Given the description of an element on the screen output the (x, y) to click on. 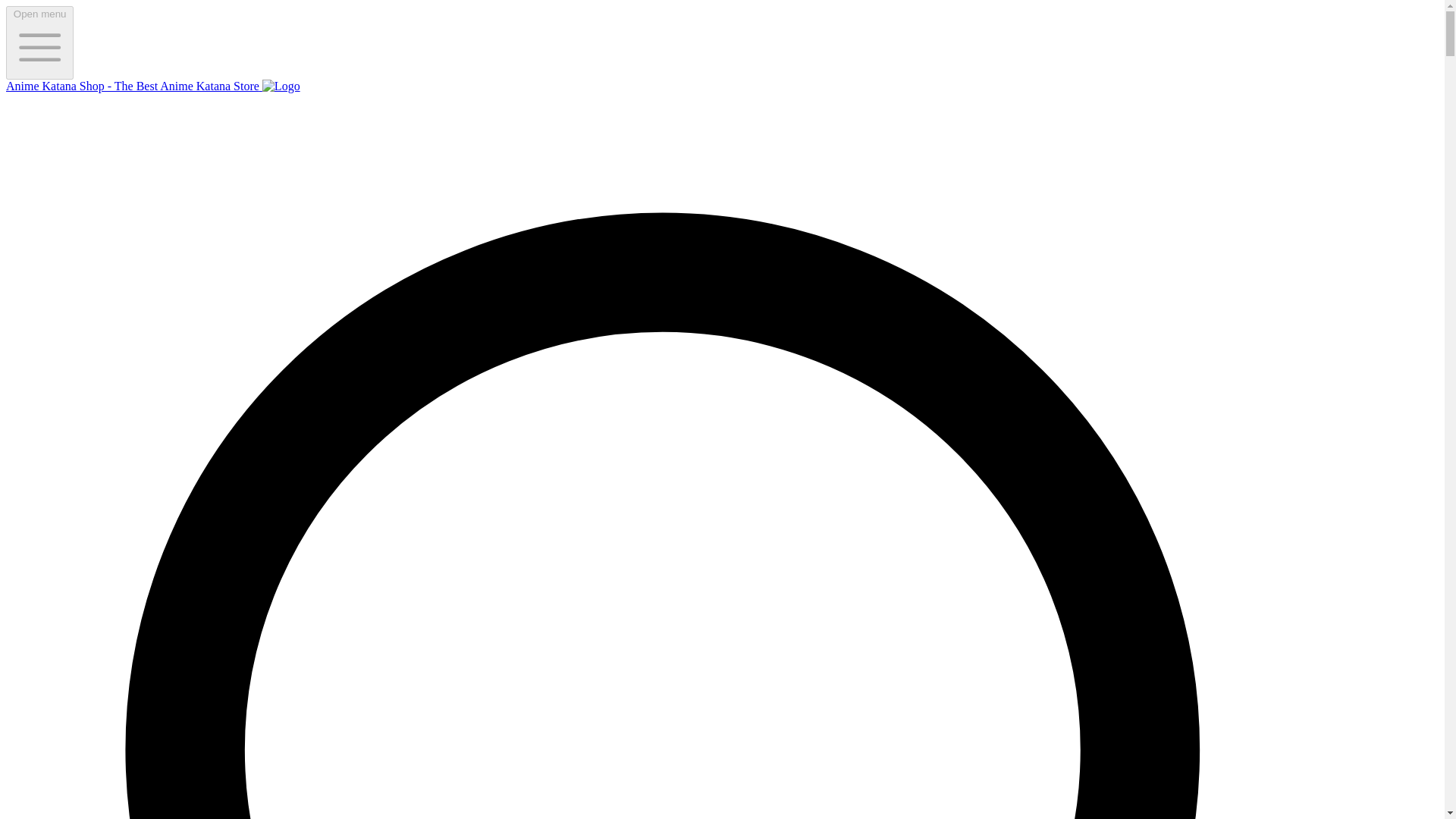
Anime Katana Shop - The Best Anime Katana Store (152, 85)
Open menu (39, 42)
